Given the description of an element on the screen output the (x, y) to click on. 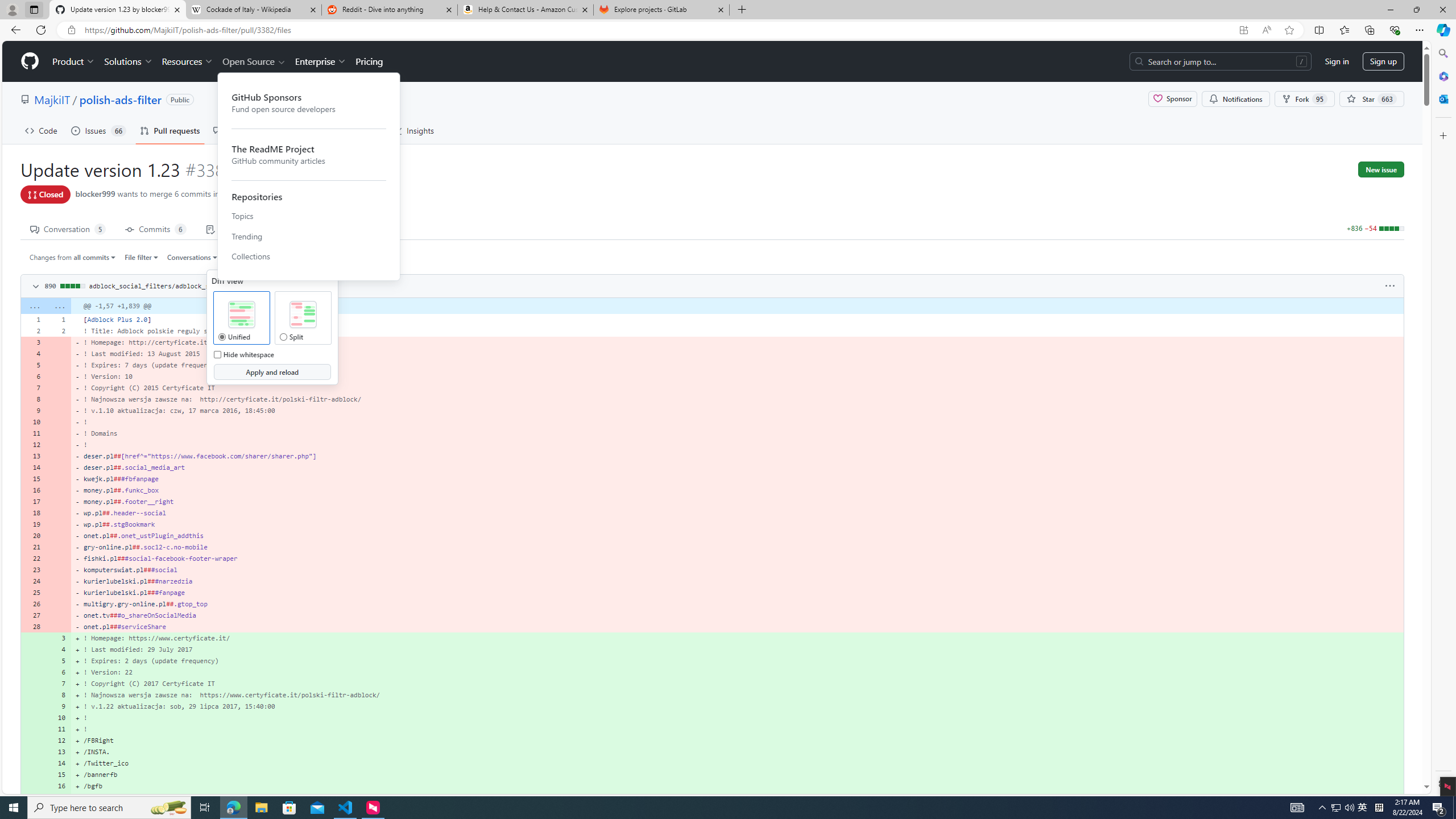
You must be signed in to change notification settings (1235, 98)
20 (33, 535)
10 (58, 717)
14 (58, 763)
Insights (413, 130)
- onet.tv###o_shareOnSocialMedia (737, 614)
16 (58, 785)
Enterprise (319, 60)
Open Source (254, 60)
Topics (309, 215)
